Given the description of an element on the screen output the (x, y) to click on. 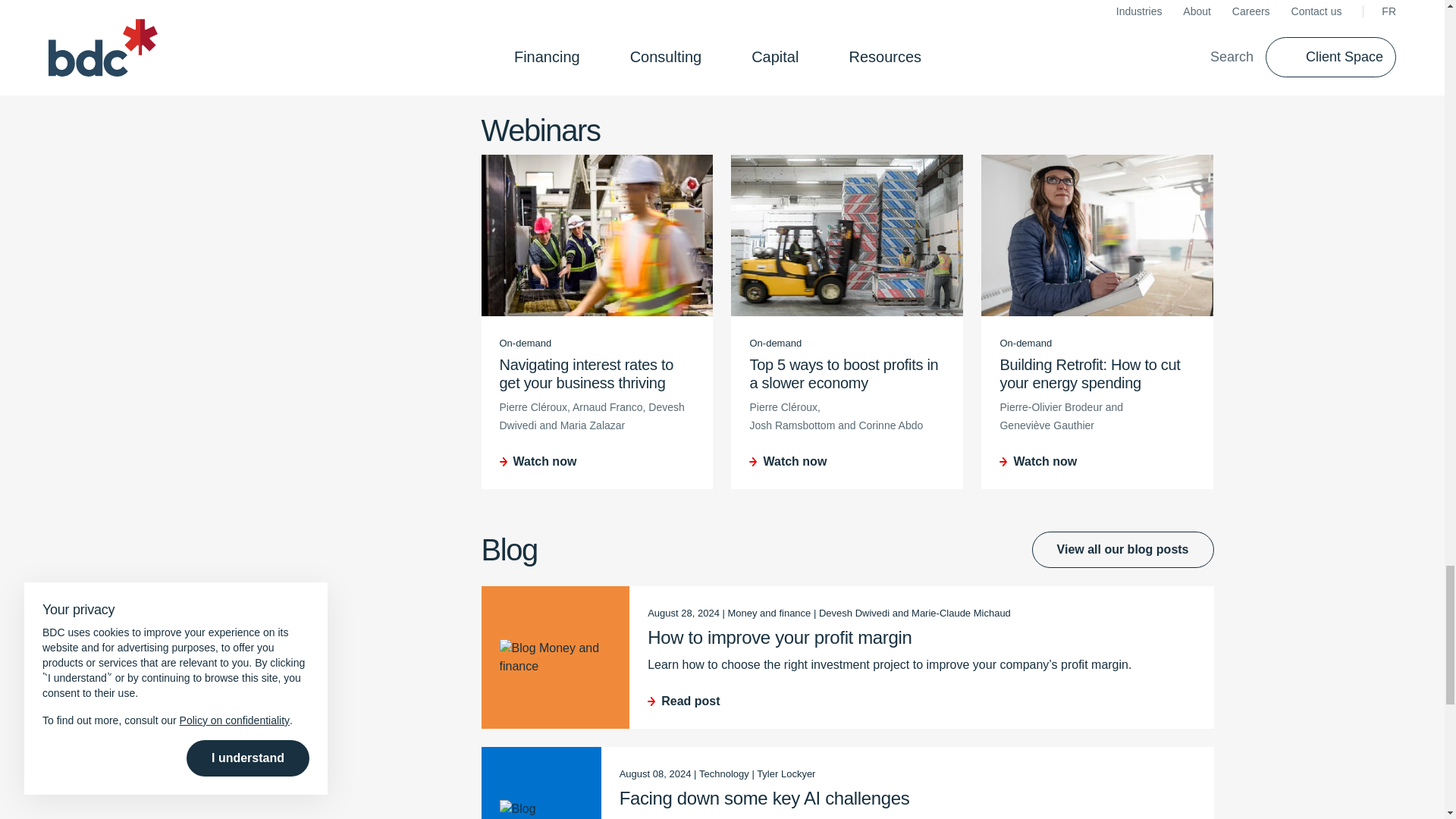
View all our blog posts (1123, 549)
Watch now (846, 461)
Watch now (1096, 461)
Blog Technology (540, 809)
Blog Money and finance (555, 657)
Read post (921, 701)
Watch now (596, 461)
